Given the description of an element on the screen output the (x, y) to click on. 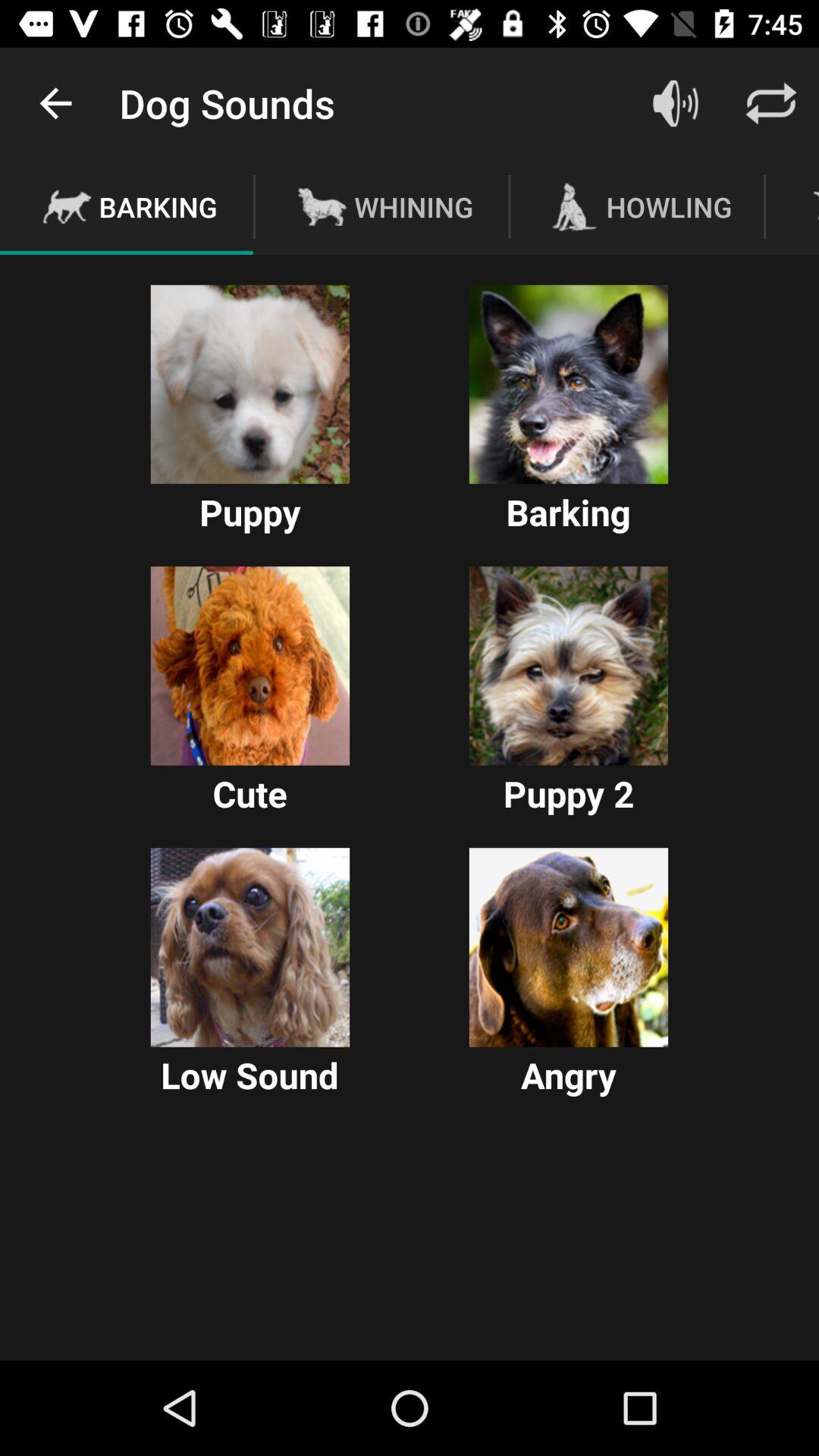
switch autoplay (249, 947)
